Given the description of an element on the screen output the (x, y) to click on. 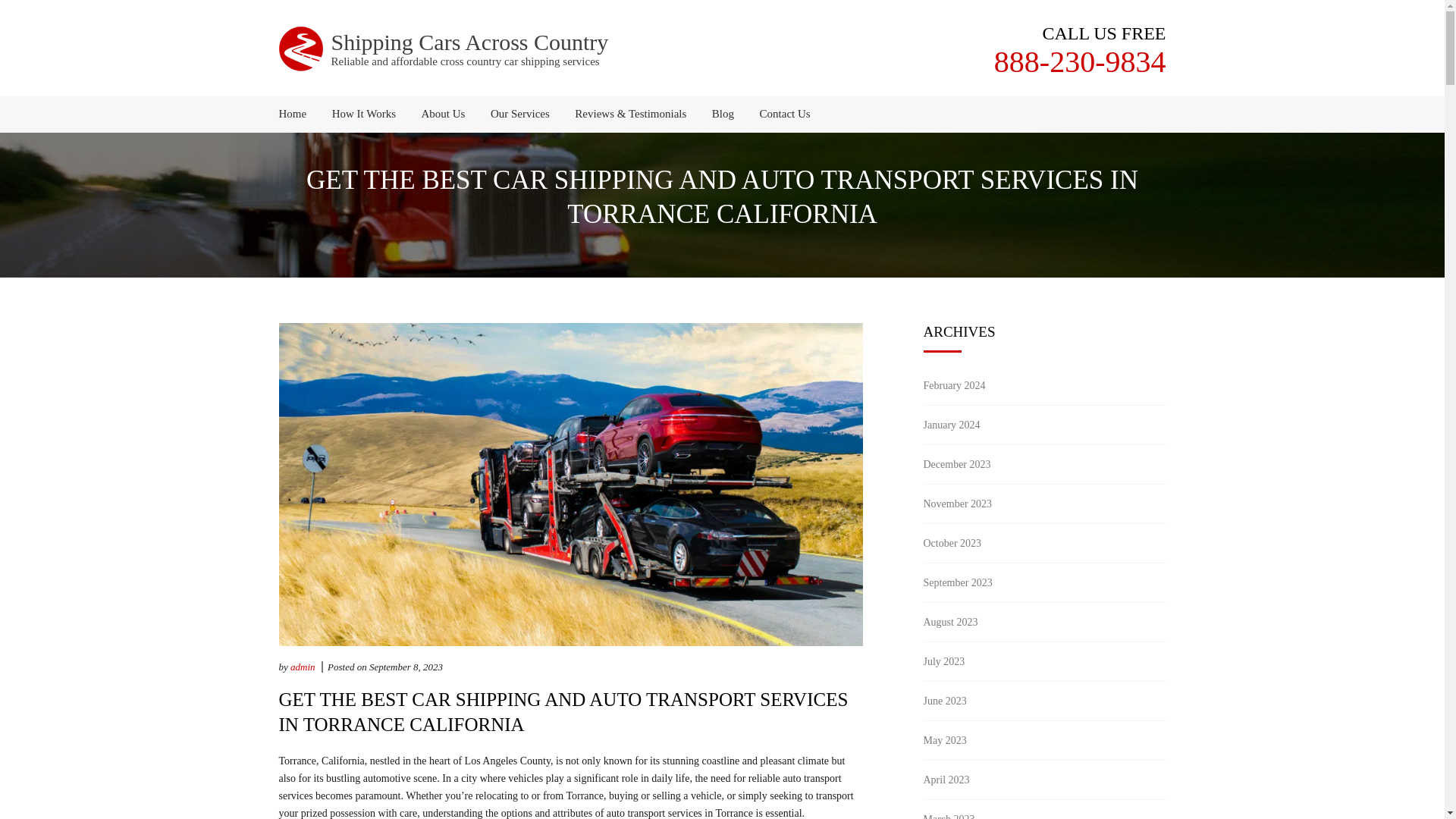
Posts by admin (302, 666)
Shipping Cars Across Country (469, 42)
admin (302, 666)
November 2023 (957, 503)
Blog (722, 114)
Contact Us (779, 114)
How It Works (363, 114)
December 2023 (957, 464)
About Us (443, 114)
Home (298, 114)
